Given the description of an element on the screen output the (x, y) to click on. 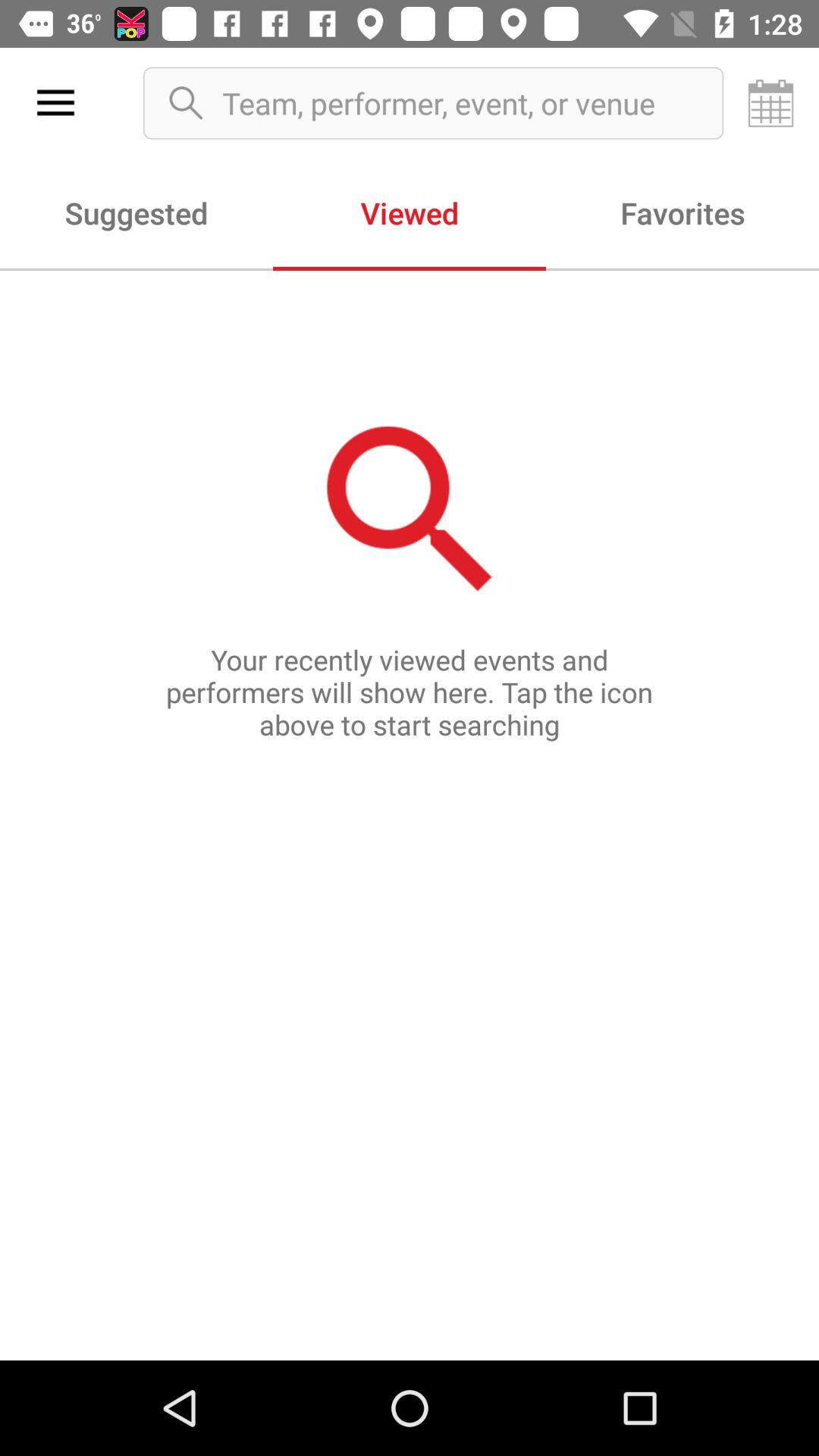
tap item to the right of the viewed icon (682, 212)
